Given the description of an element on the screen output the (x, y) to click on. 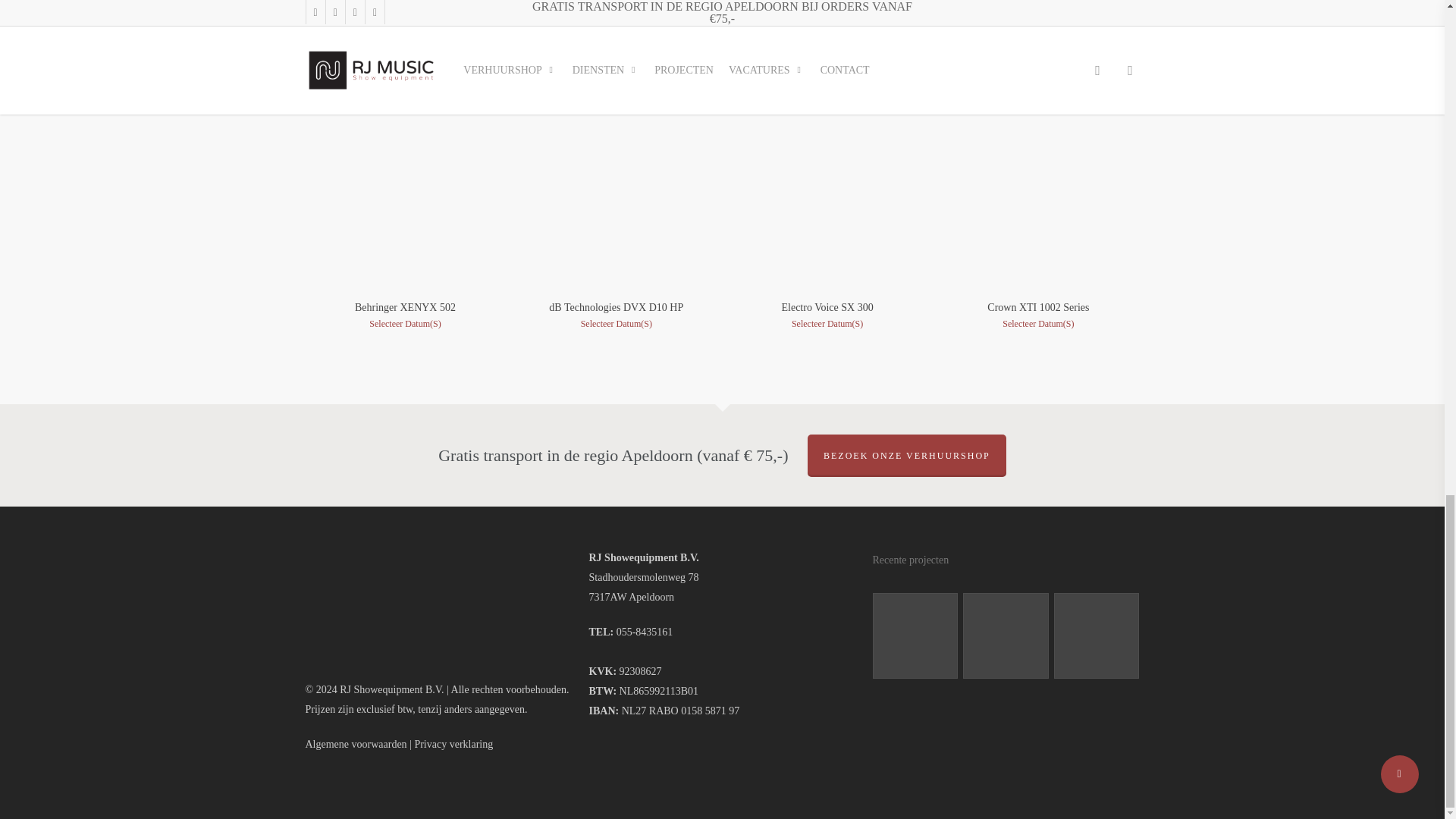
ADE 2023 Q-Factory (1097, 635)
In de Kerk (915, 635)
